Given the description of an element on the screen output the (x, y) to click on. 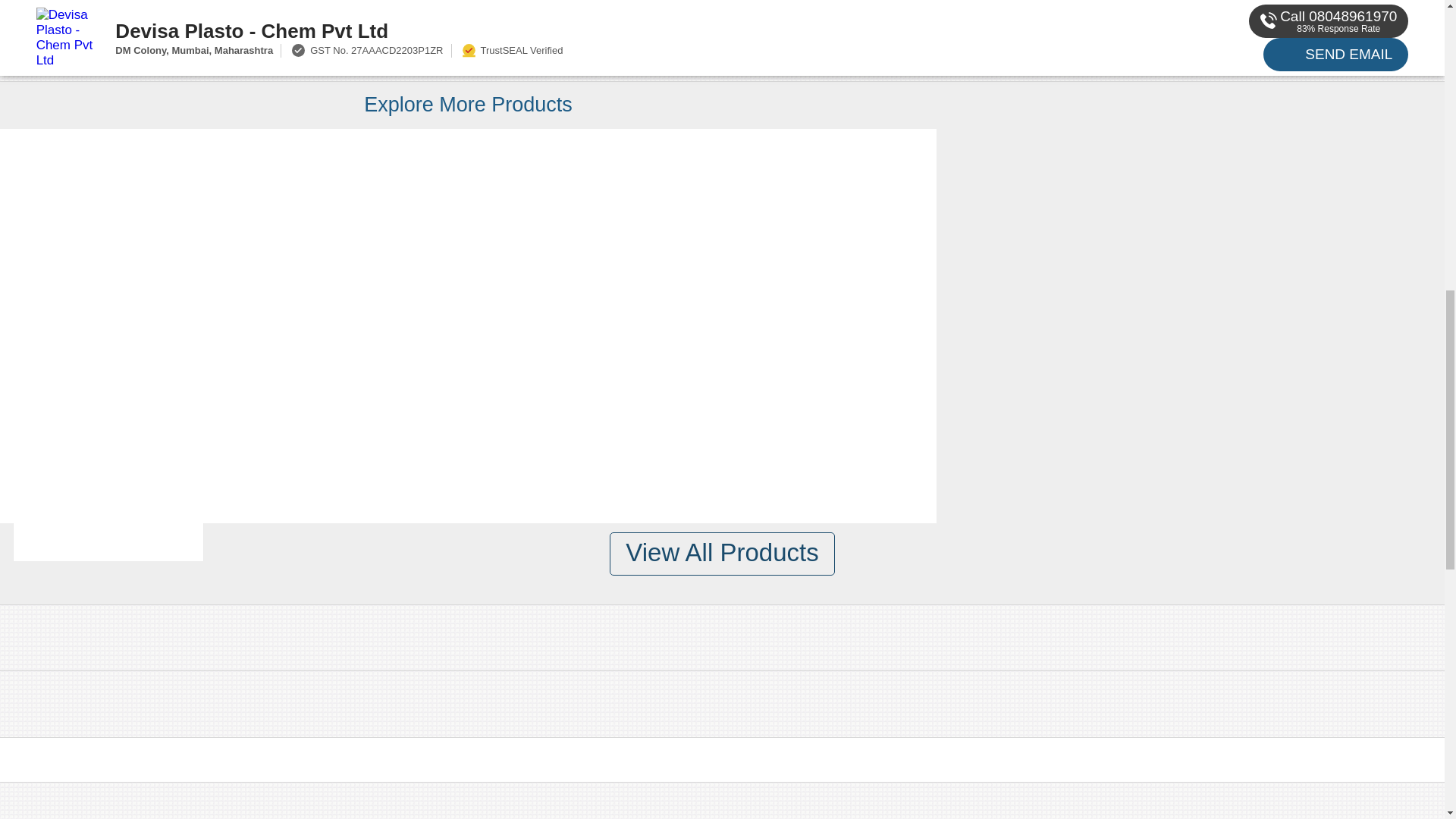
View All Products (722, 553)
